Given the description of an element on the screen output the (x, y) to click on. 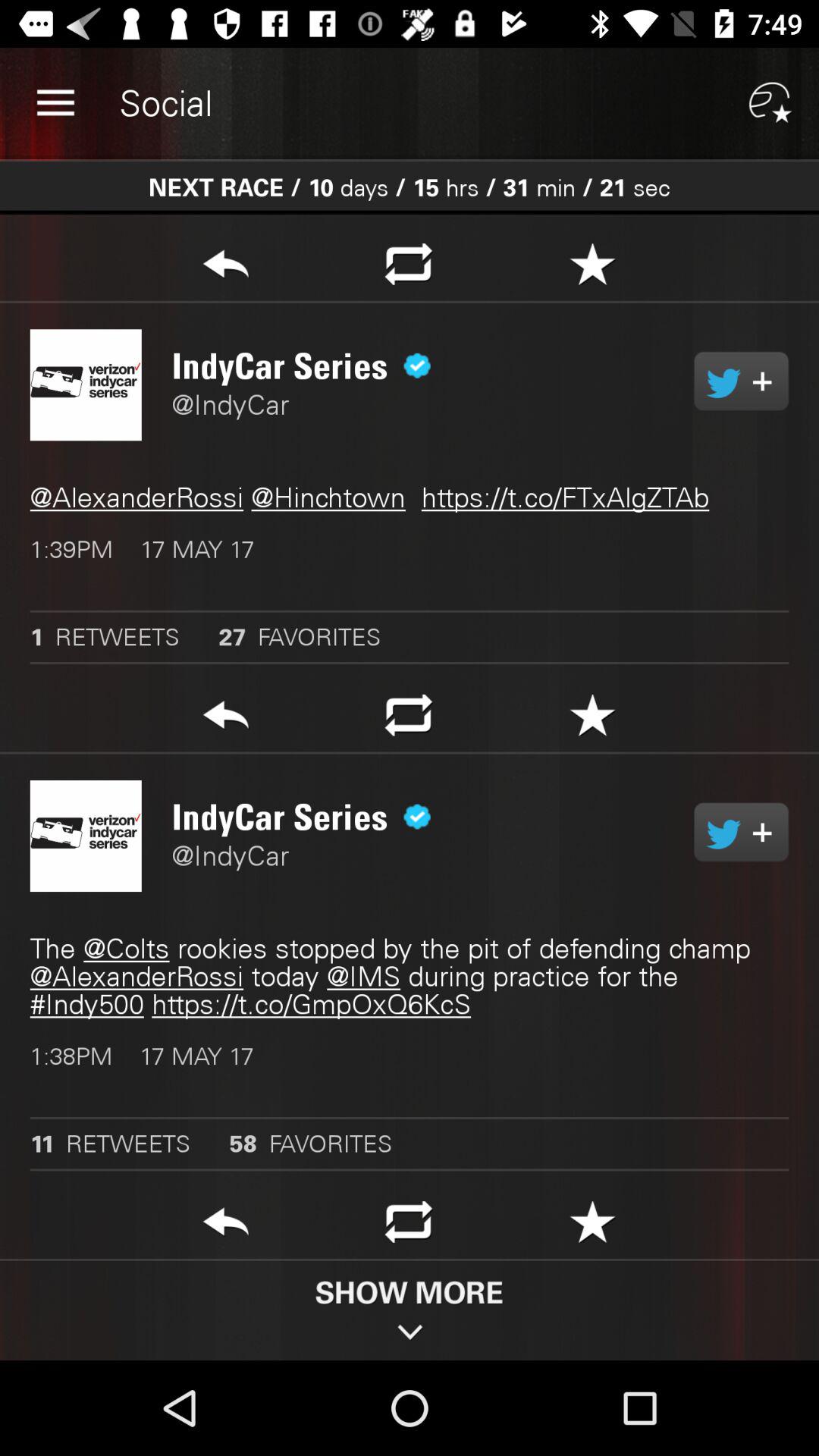
select item to the left of social app (55, 103)
